Given the description of an element on the screen output the (x, y) to click on. 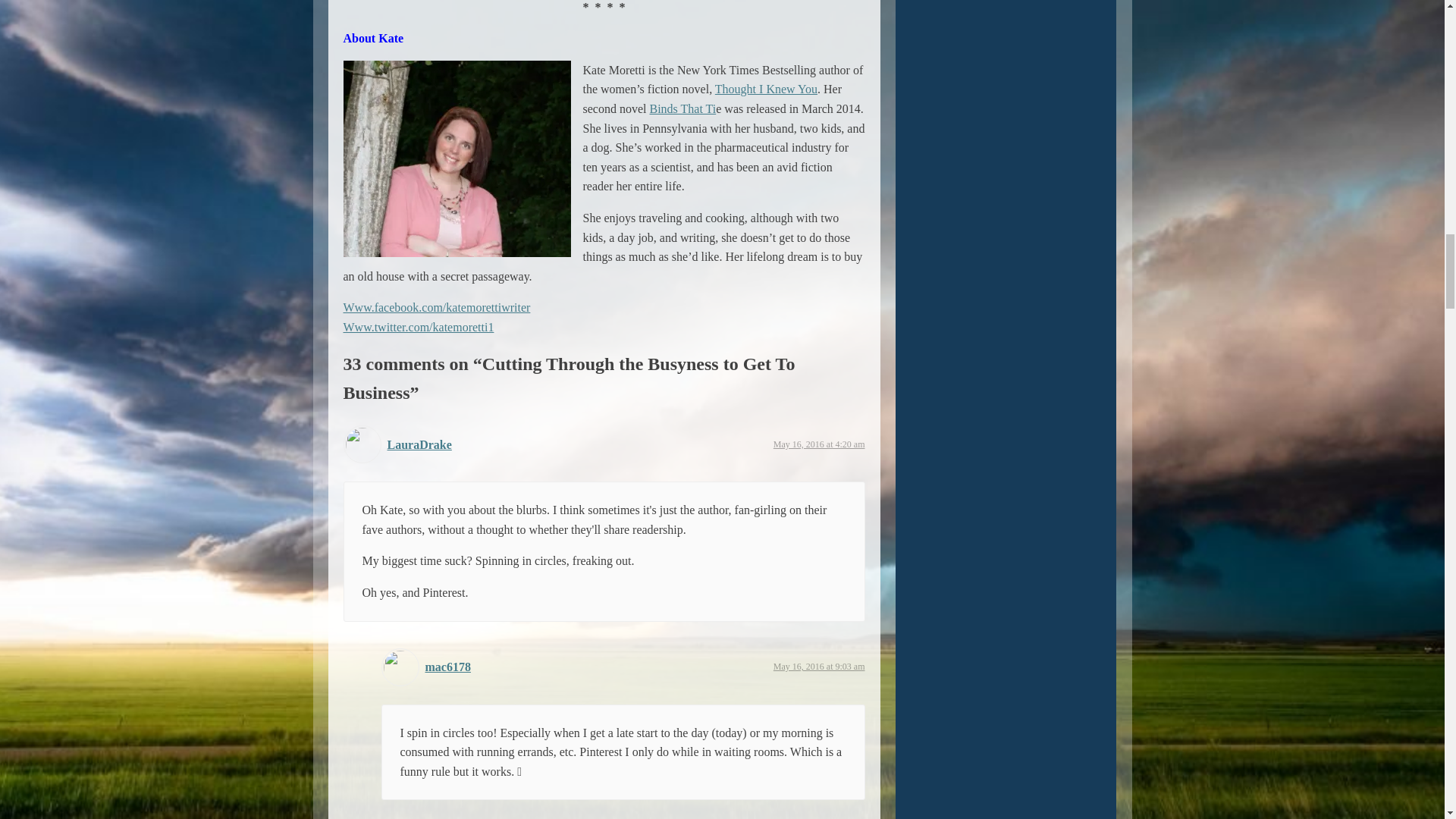
May 16, 2016 at 9:03 am (818, 665)
mac6178 (447, 666)
LauraDrake (419, 444)
May 16, 2016 at 4:20 am (818, 443)
Thought I Knew You (765, 88)
Binds That Ti (682, 108)
